Given the description of an element on the screen output the (x, y) to click on. 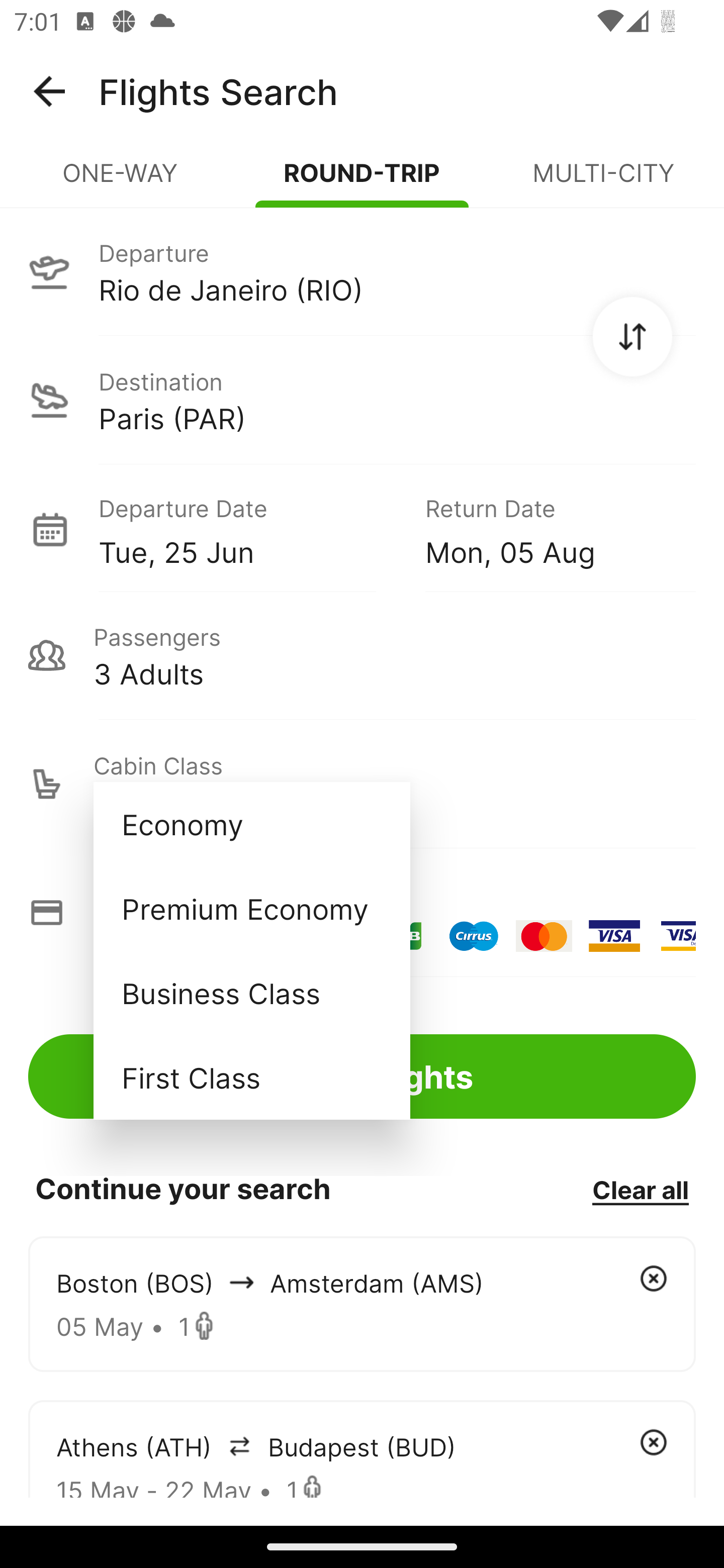
Economy (251, 824)
Premium Economy (251, 908)
Business Class (251, 992)
First Class (251, 1076)
